Given the description of an element on the screen output the (x, y) to click on. 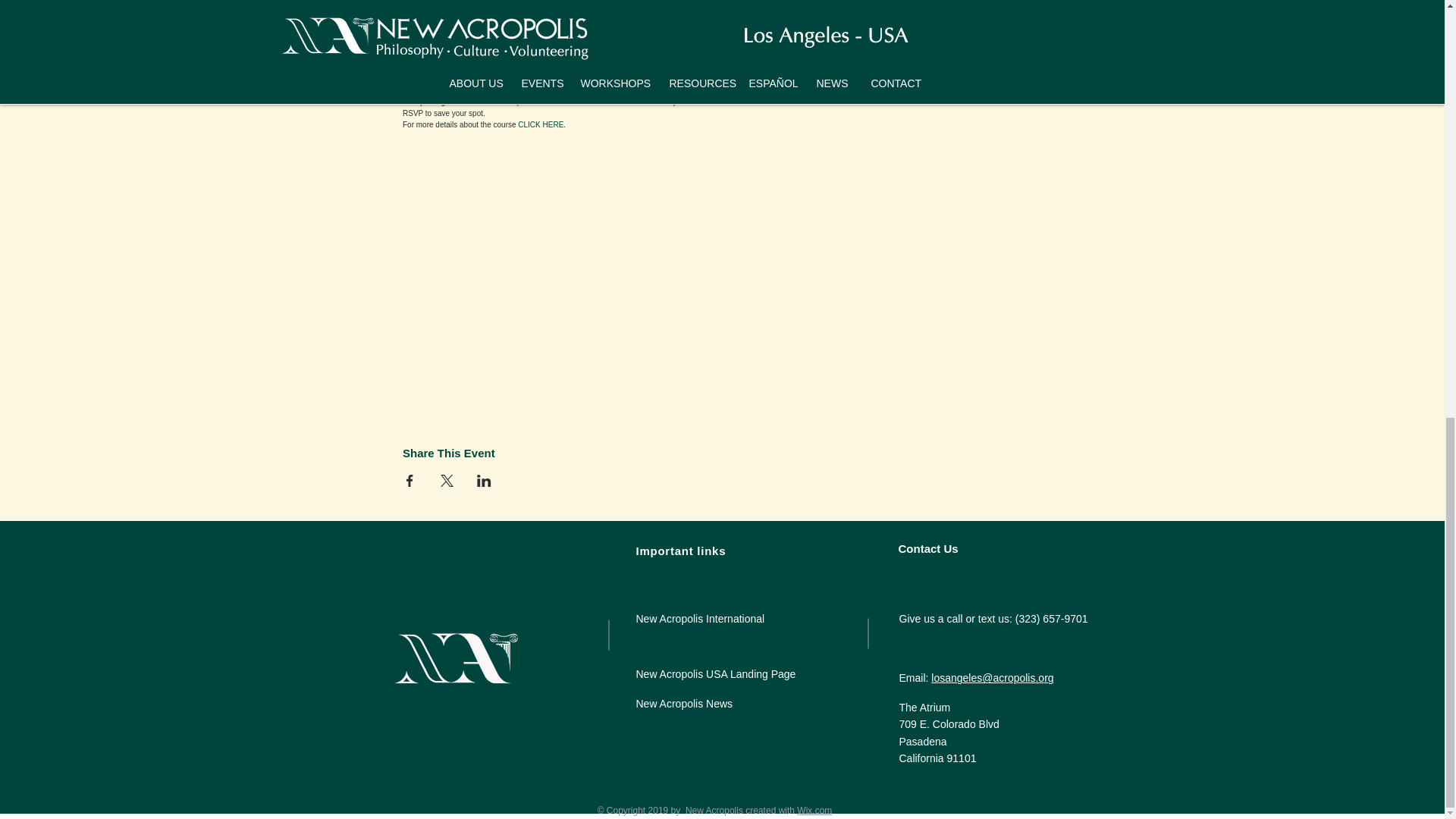
Wix.com (813, 810)
New Acropolis International (699, 618)
New Acropolis USA Landing Page (714, 674)
Philosophy In The Park Course (525, 56)
New Acropolis News (683, 703)
CLICK HERE (540, 124)
